Given the description of an element on the screen output the (x, y) to click on. 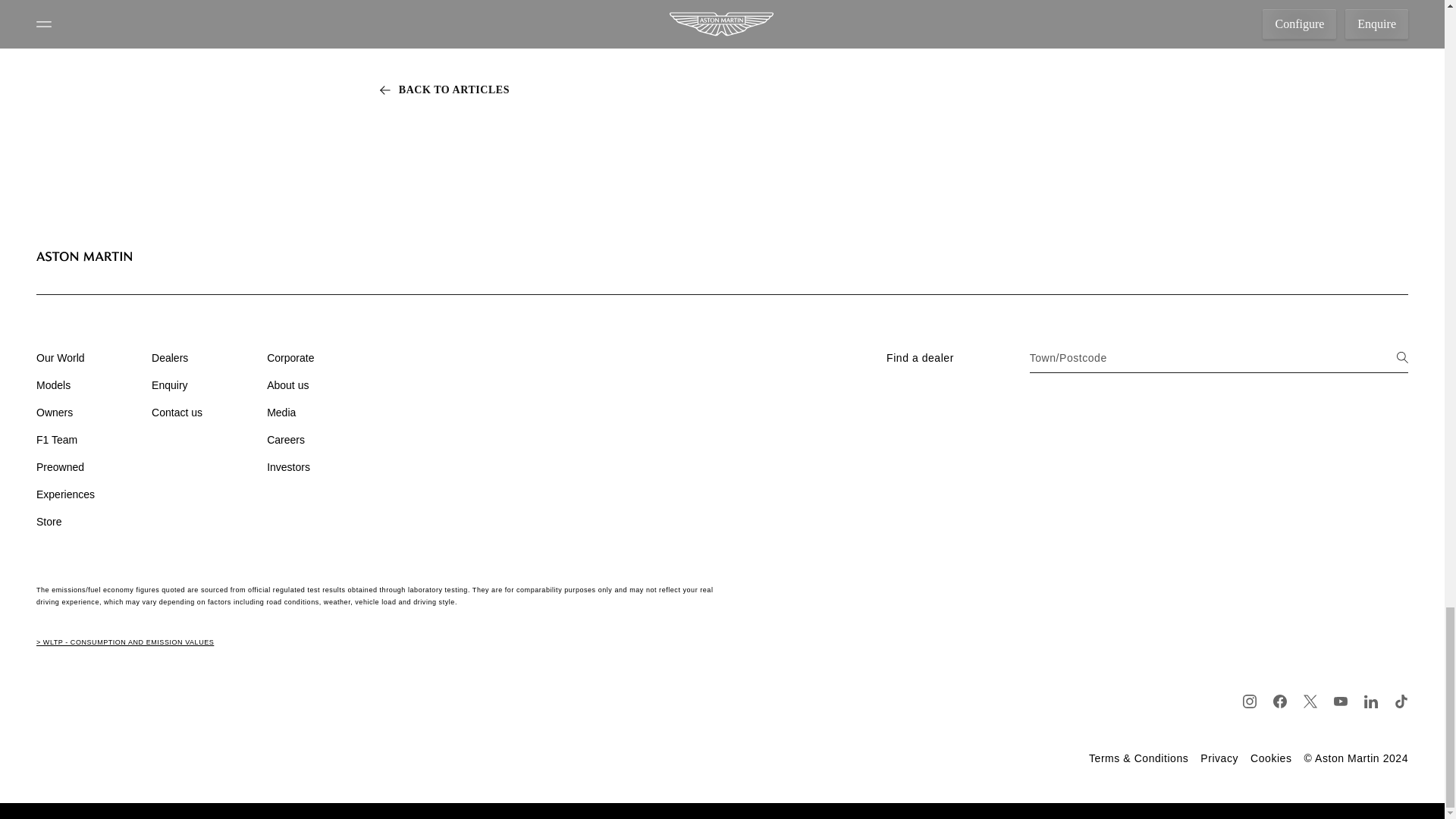
Share (194, 63)
